Given the description of an element on the screen output the (x, y) to click on. 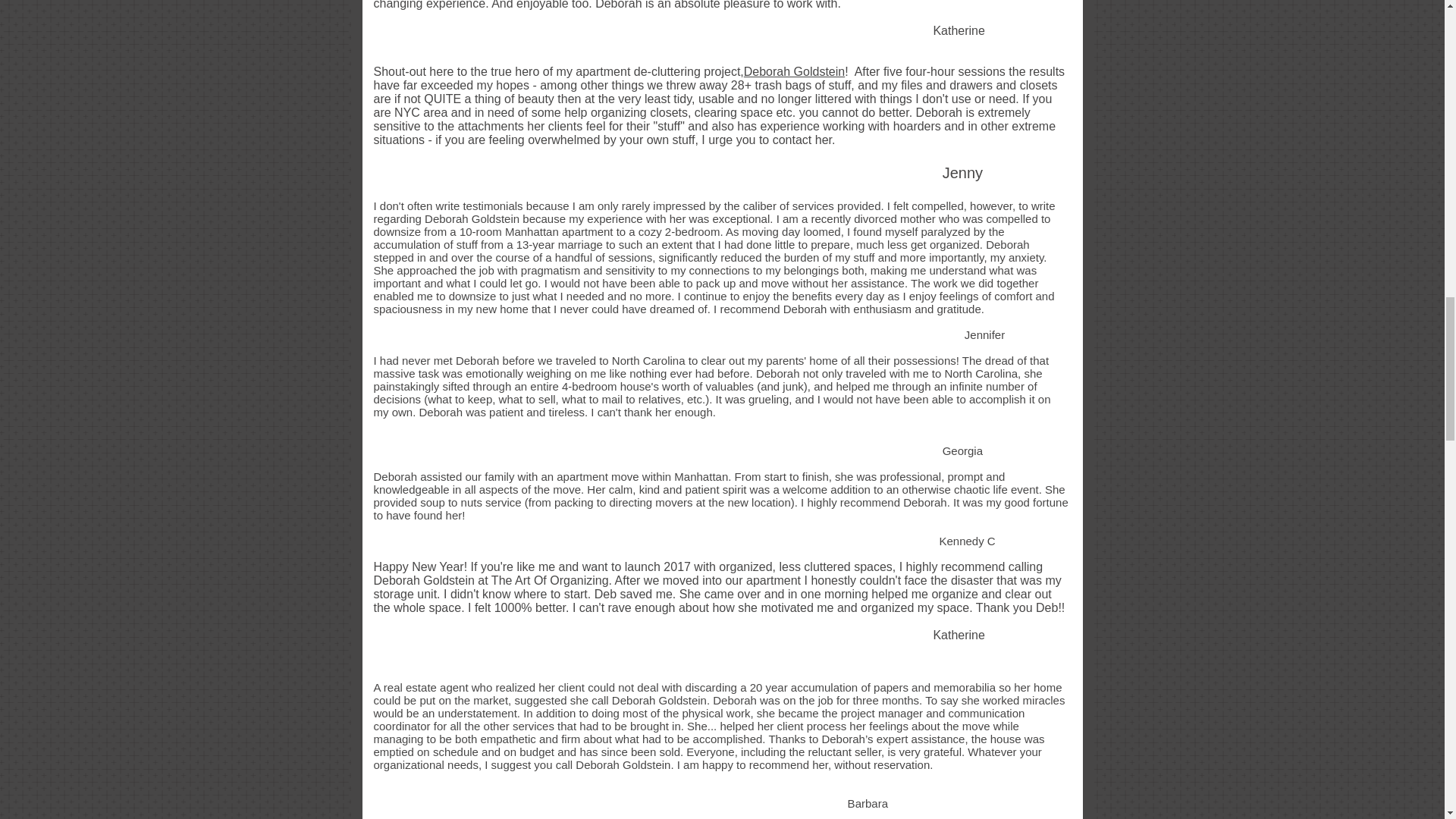
Deborah Goldstein (794, 71)
